Given the description of an element on the screen output the (x, y) to click on. 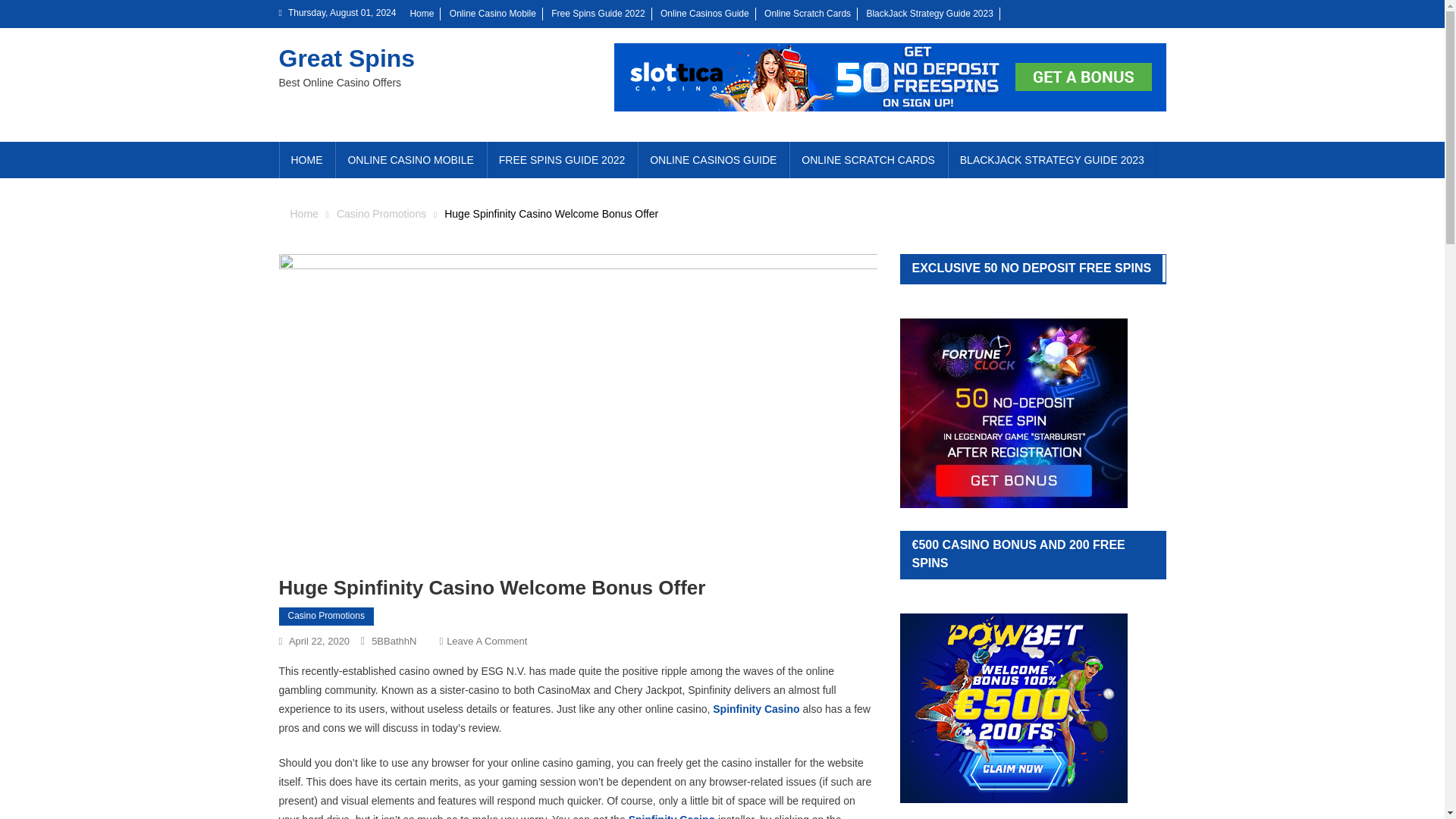
Online Casino Mobile (492, 13)
Free Spins Guide 2022 (598, 13)
Great Spins (346, 58)
Home (421, 13)
Online Casinos Guide (705, 13)
FREE SPINS GUIDE 2022 (561, 159)
Spinfinity Casino (671, 816)
Home (303, 214)
Online Scratch Cards (807, 13)
5BBathhN (393, 641)
April 22, 2020 (318, 641)
Casino Promotions (326, 616)
Spinfinity Casino (756, 708)
BlackJack Strategy Guide 2023 (929, 13)
